Given the description of an element on the screen output the (x, y) to click on. 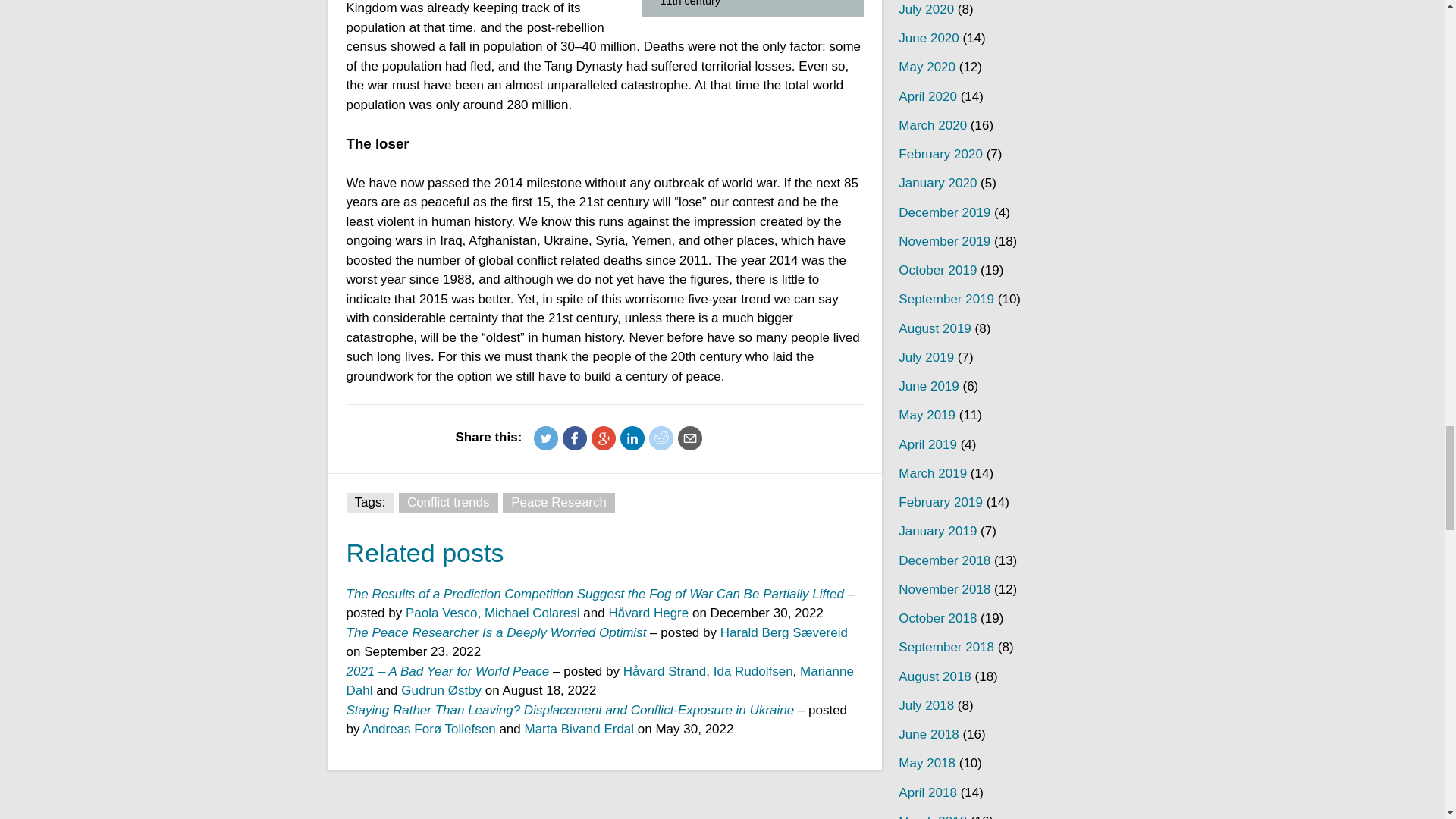
Conflict trends (447, 502)
Ida Rudolfsen (753, 671)
Paola Vesco (441, 612)
Click to share on Facebook (574, 437)
Posts by Michael Colaresi (531, 612)
The Peace Researcher Is a Deeply Worried Optimist (497, 632)
Click to share on LinkedIn (632, 437)
